Given the description of an element on the screen output the (x, y) to click on. 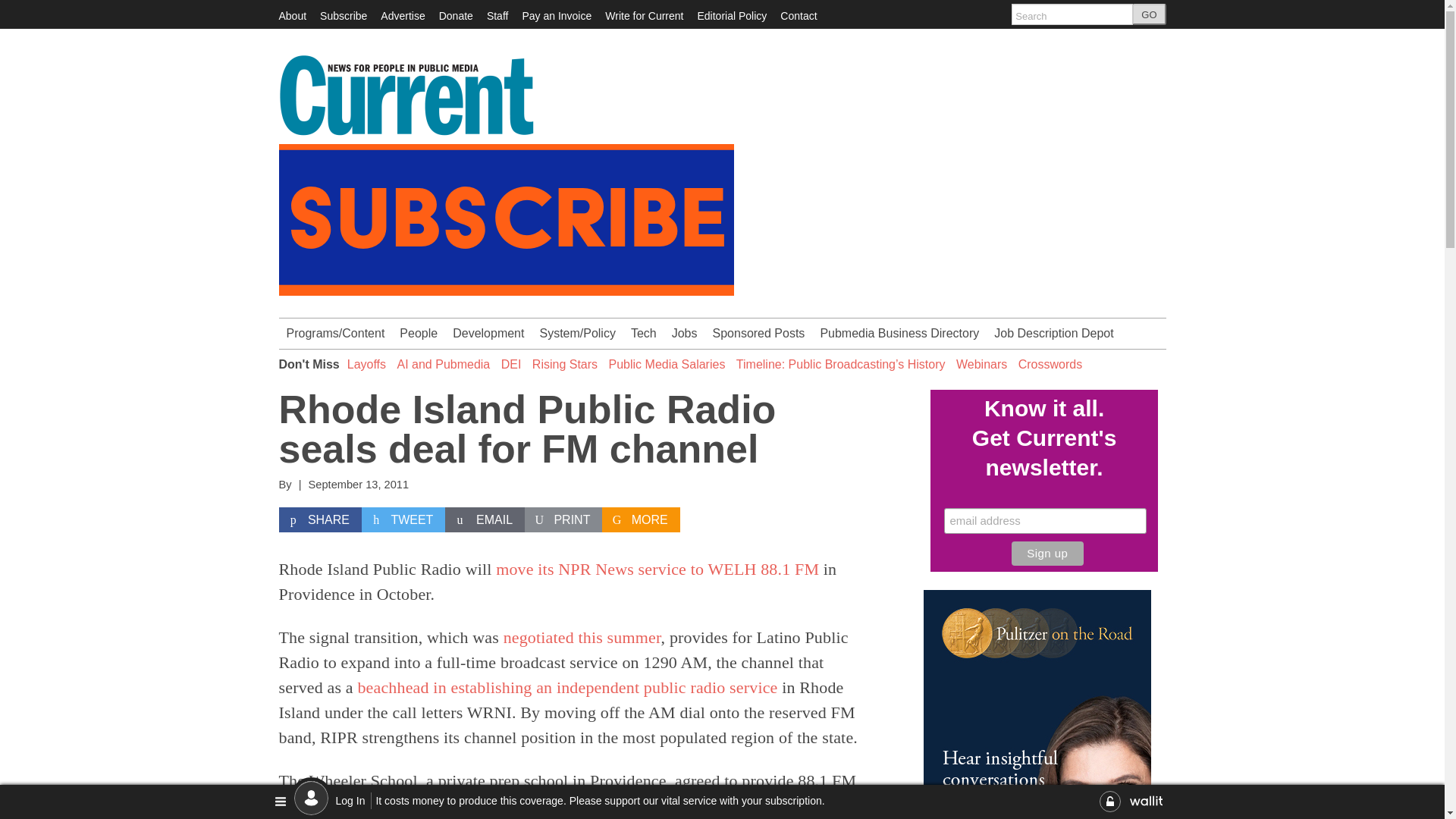
Write for Current (643, 15)
Subscribe (343, 15)
GO (1149, 14)
Staff (497, 15)
Pay an Invoice (556, 15)
Editorial Policy (732, 15)
Print this article (563, 519)
About (293, 15)
Contact (798, 15)
Advertise (402, 15)
Donate (456, 15)
Sign up (1047, 553)
